Given the description of an element on the screen output the (x, y) to click on. 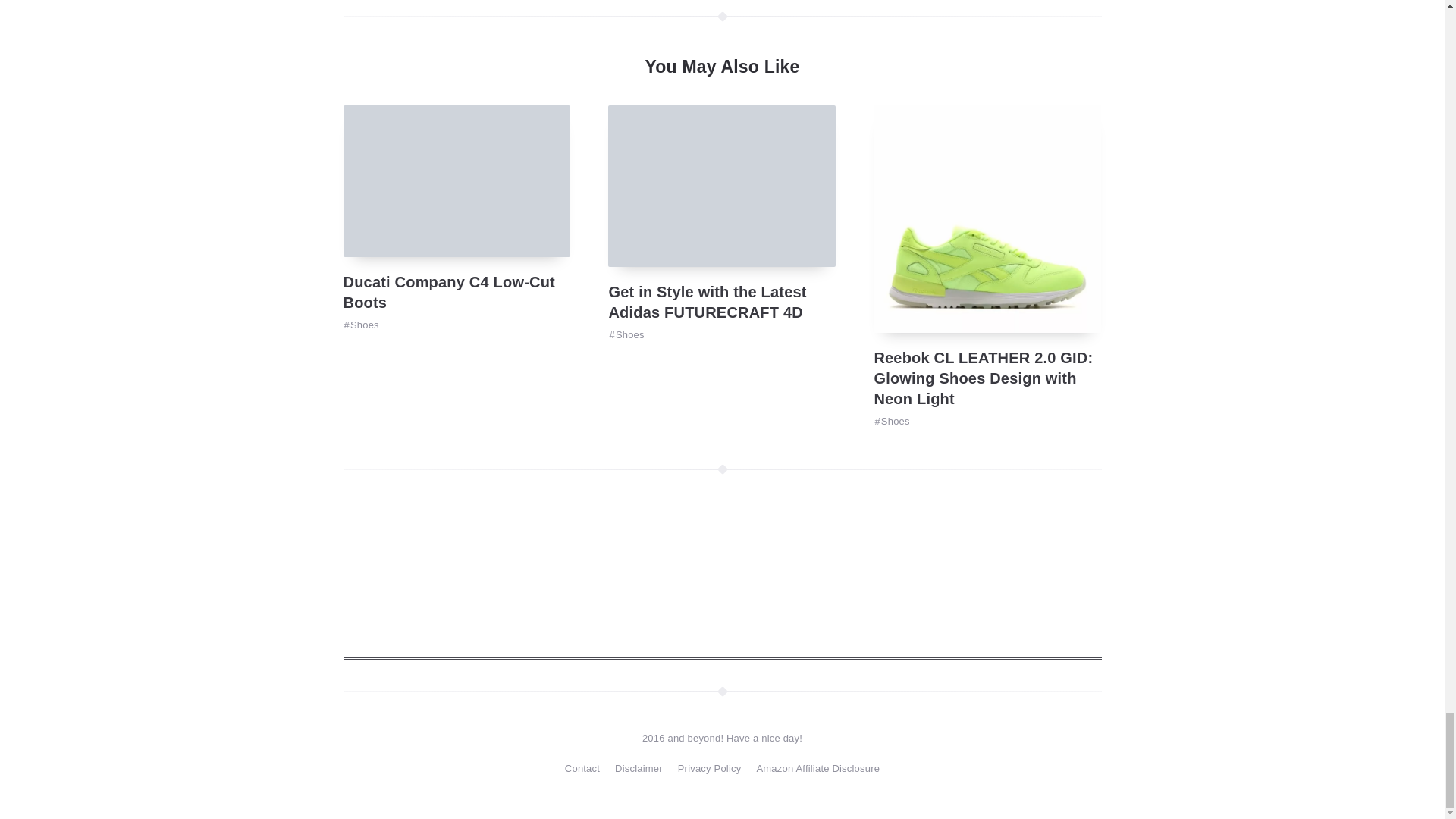
Ducati Company C4 Low-Cut Boots (448, 292)
